Given the description of an element on the screen output the (x, y) to click on. 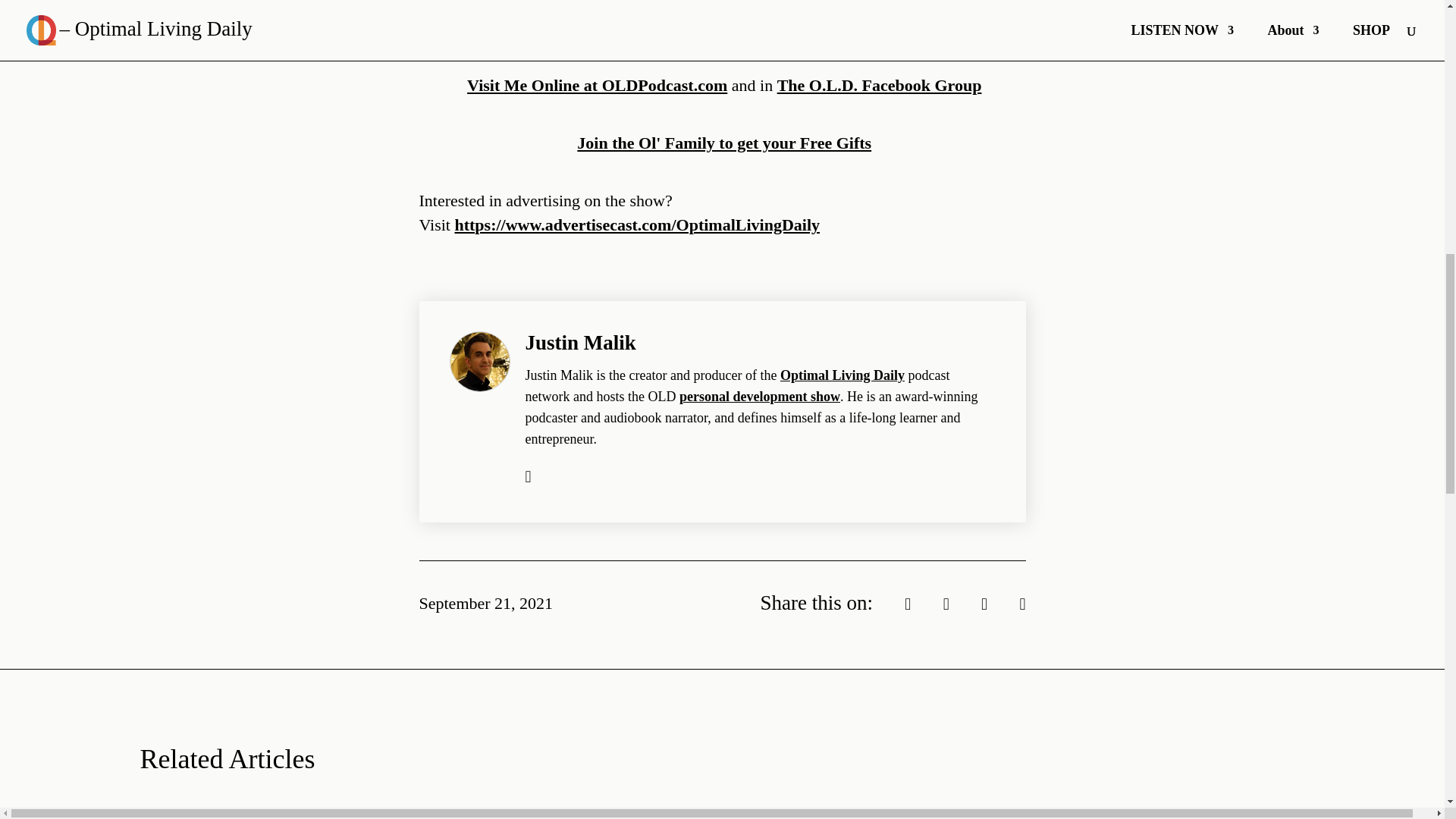
Justin Malik (579, 342)
The O.L.D. Facebook Group (879, 85)
Visit Me Online at OLDPodcast.com (596, 85)
personal development show (759, 396)
Join the Ol' Family to get your Free Gifts (723, 142)
Optimal Living Daily (842, 375)
